Given the description of an element on the screen output the (x, y) to click on. 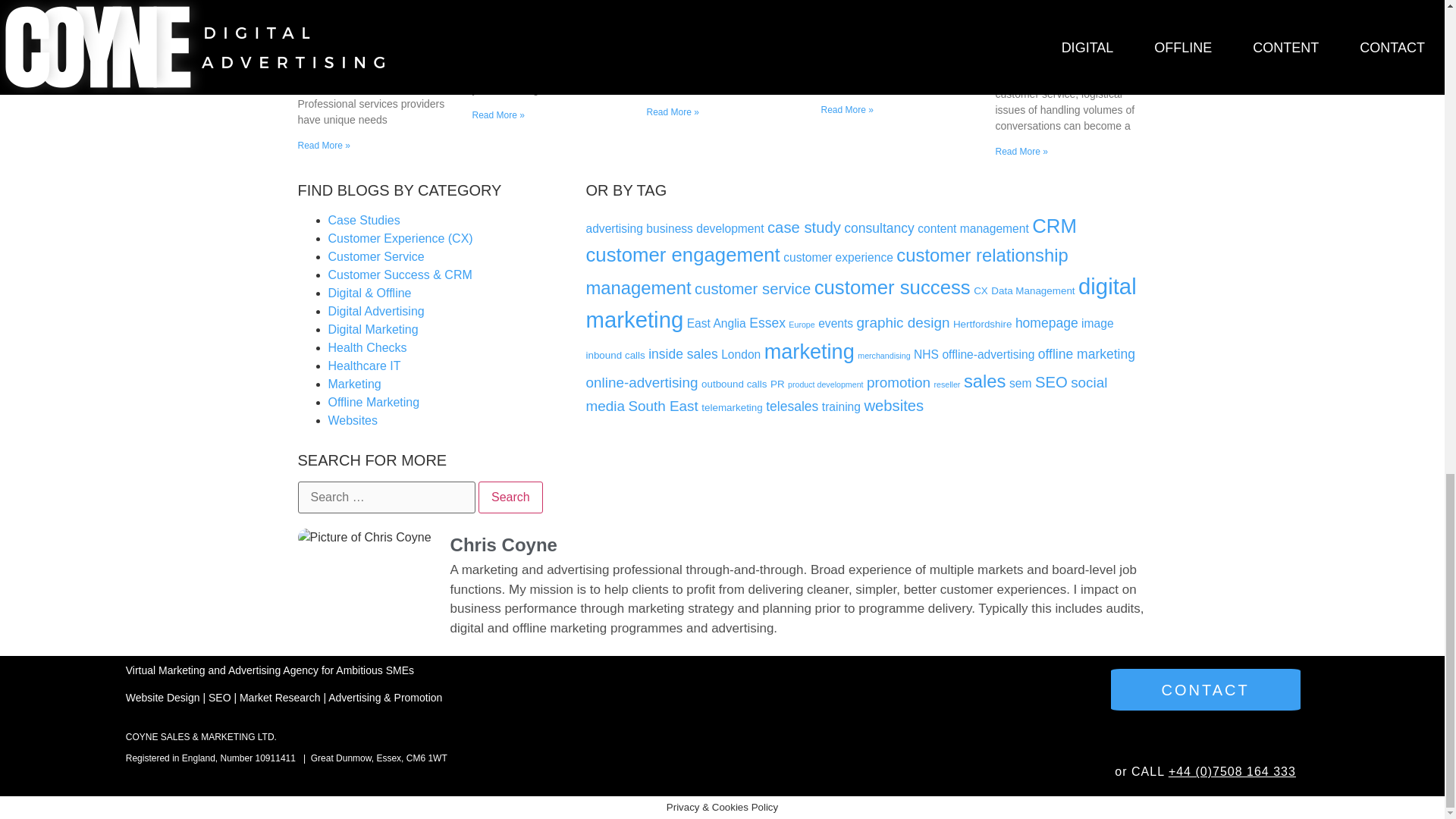
Digital Marketing (372, 328)
Search (511, 497)
Case Studies (362, 219)
Marketing (353, 383)
Digital Advertising (375, 310)
Search (511, 497)
Health Checks (366, 347)
Healthcare IT (363, 365)
Customer Service (375, 256)
